Given the description of an element on the screen output the (x, y) to click on. 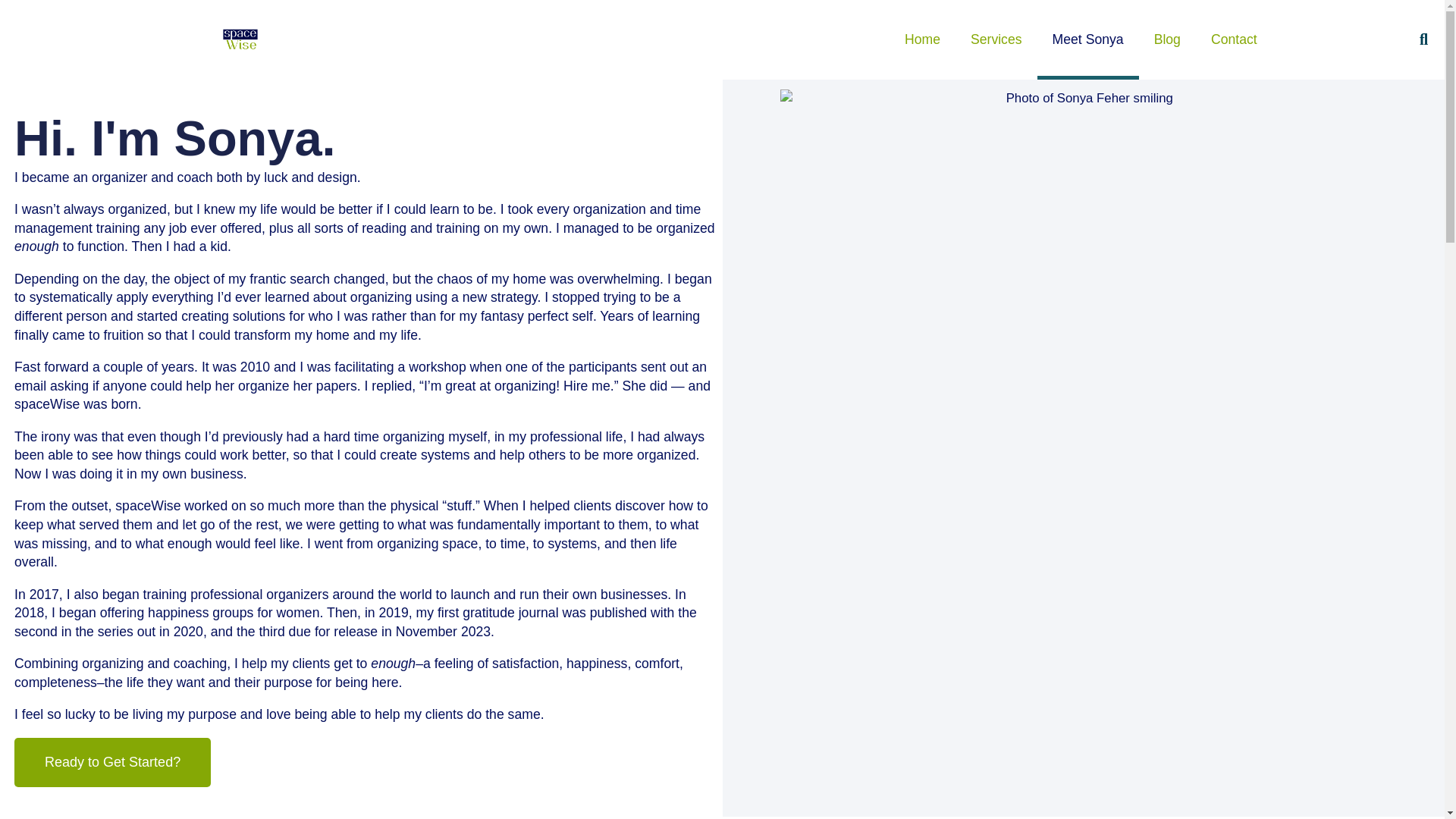
Contact (1233, 39)
Ready to Get Started? (112, 762)
Services (995, 39)
Meet Sonya (1087, 39)
